Given the description of an element on the screen output the (x, y) to click on. 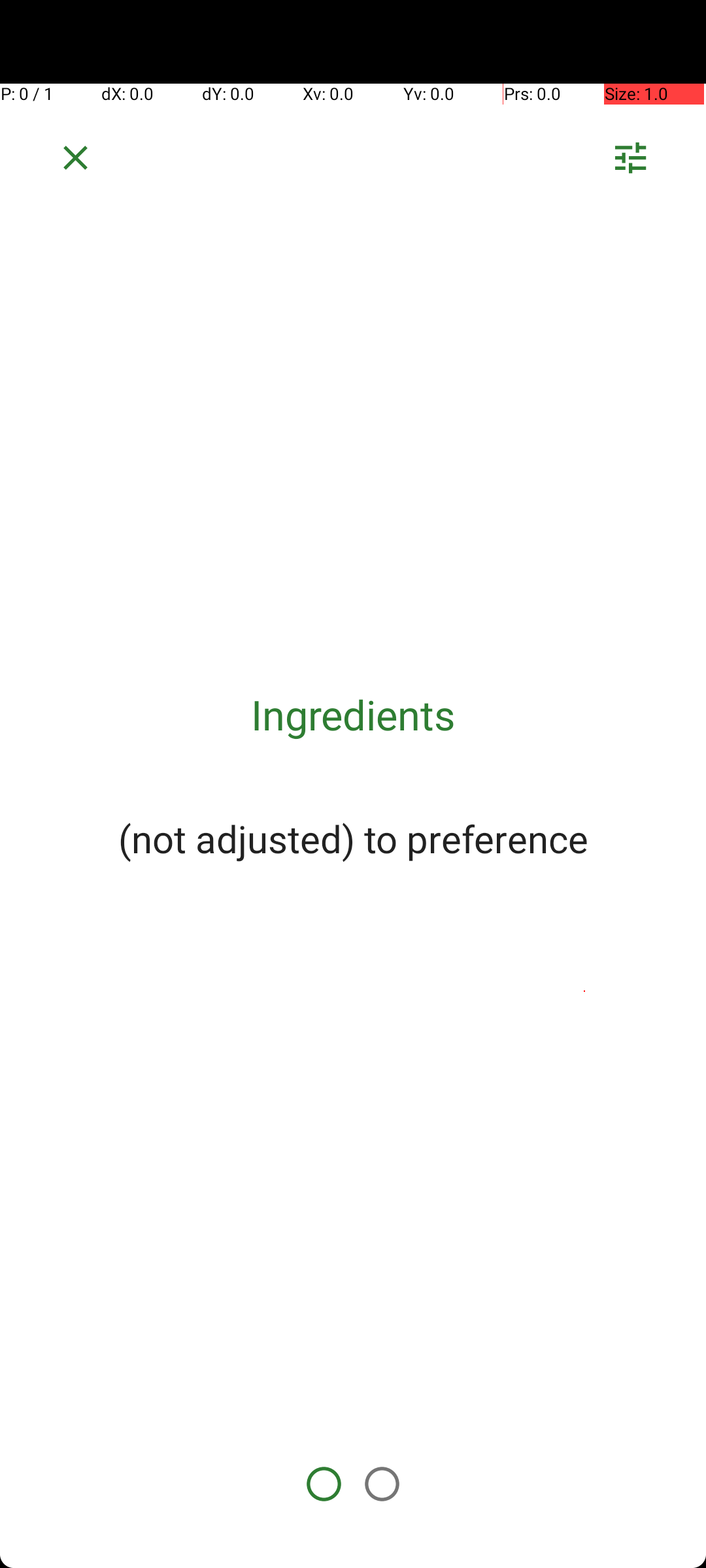
(not adjusted) to preference Element type: android.widget.TextView (353, 838)
